Given the description of an element on the screen output the (x, y) to click on. 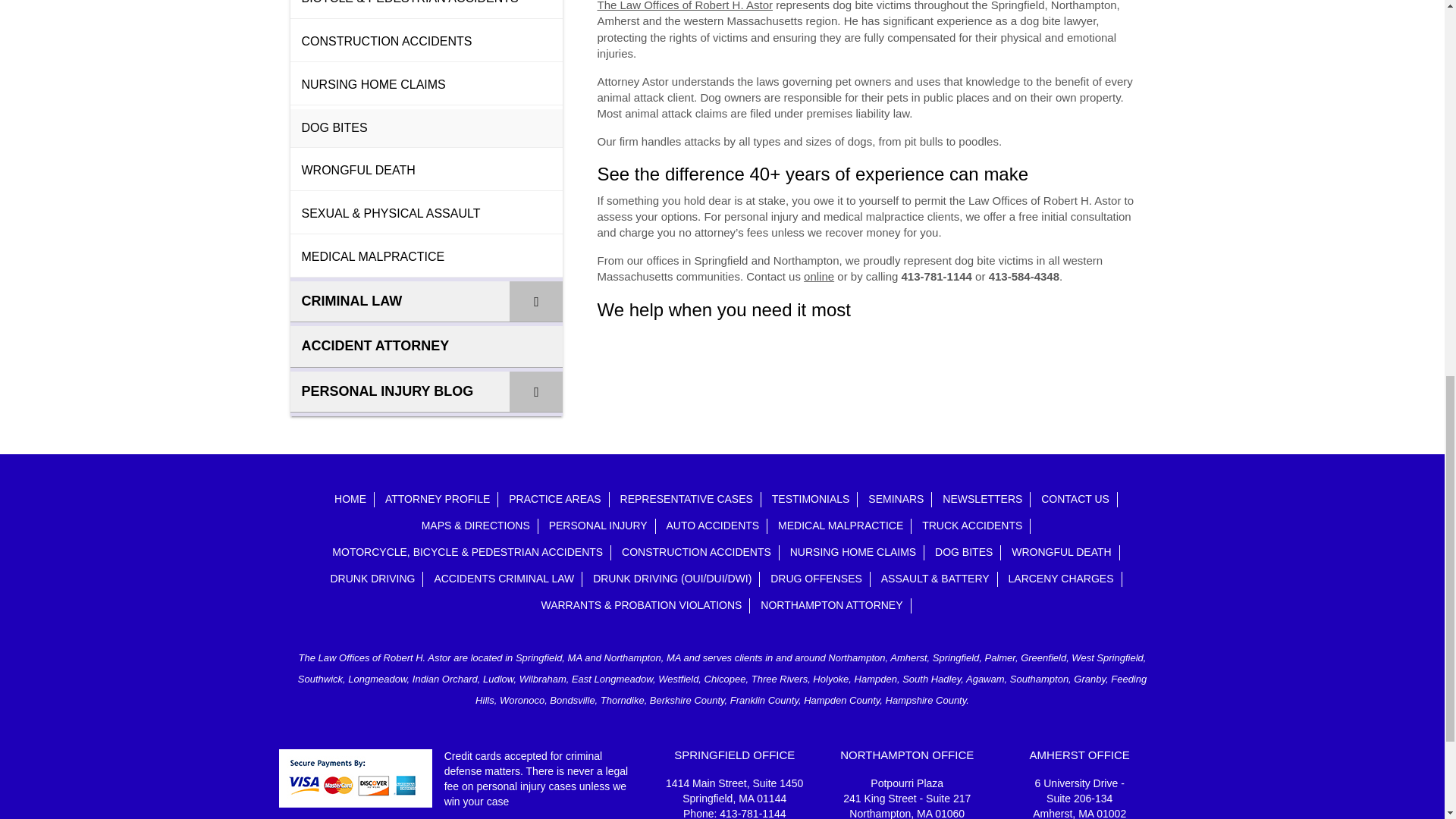
CRIMINAL LAW (425, 301)
CONSTRUCTION ACCIDENTS (425, 42)
DOG BITES (425, 128)
WRONGFUL DEATH (425, 170)
MEDICAL MALPRACTICE (425, 257)
NURSING HOME CLAIMS (425, 85)
